Given the description of an element on the screen output the (x, y) to click on. 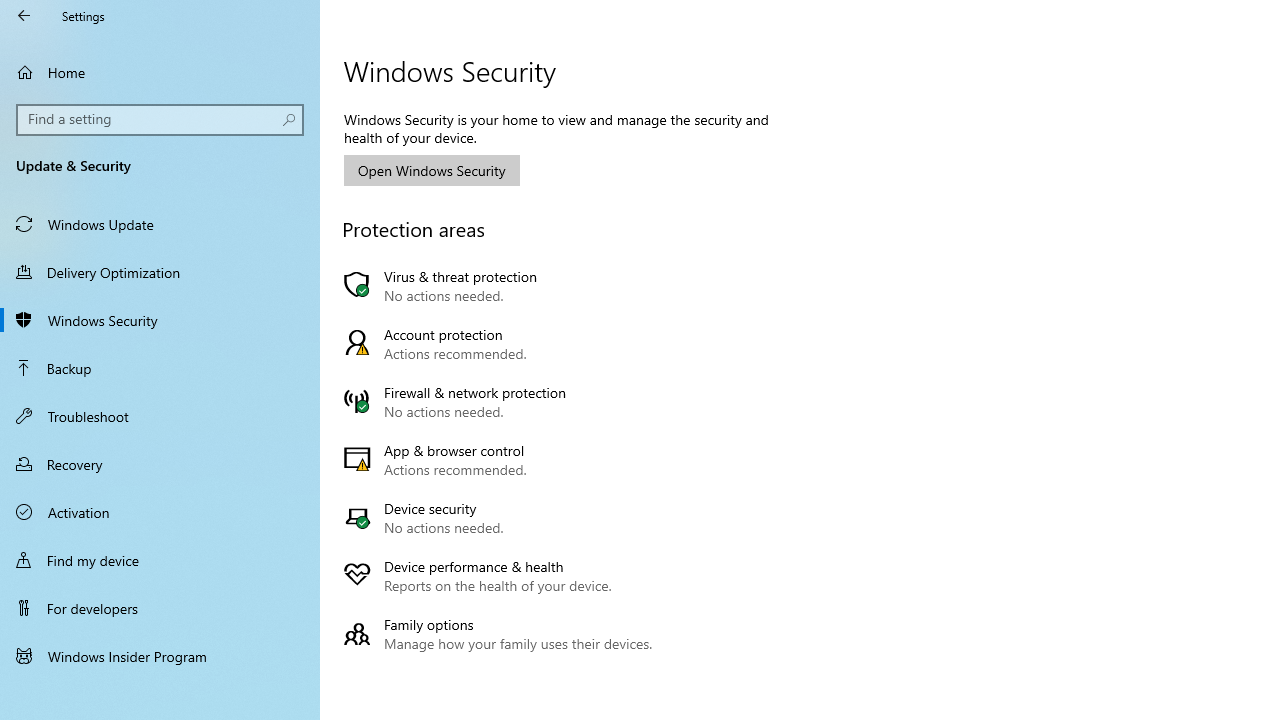
Activation (160, 511)
Firewall & network protection No actions needed. (502, 401)
Device security No actions needed. (502, 517)
App & browser control Actions recommended. (502, 459)
Windows Insider Program (160, 655)
Find my device (160, 559)
